Given the description of an element on the screen output the (x, y) to click on. 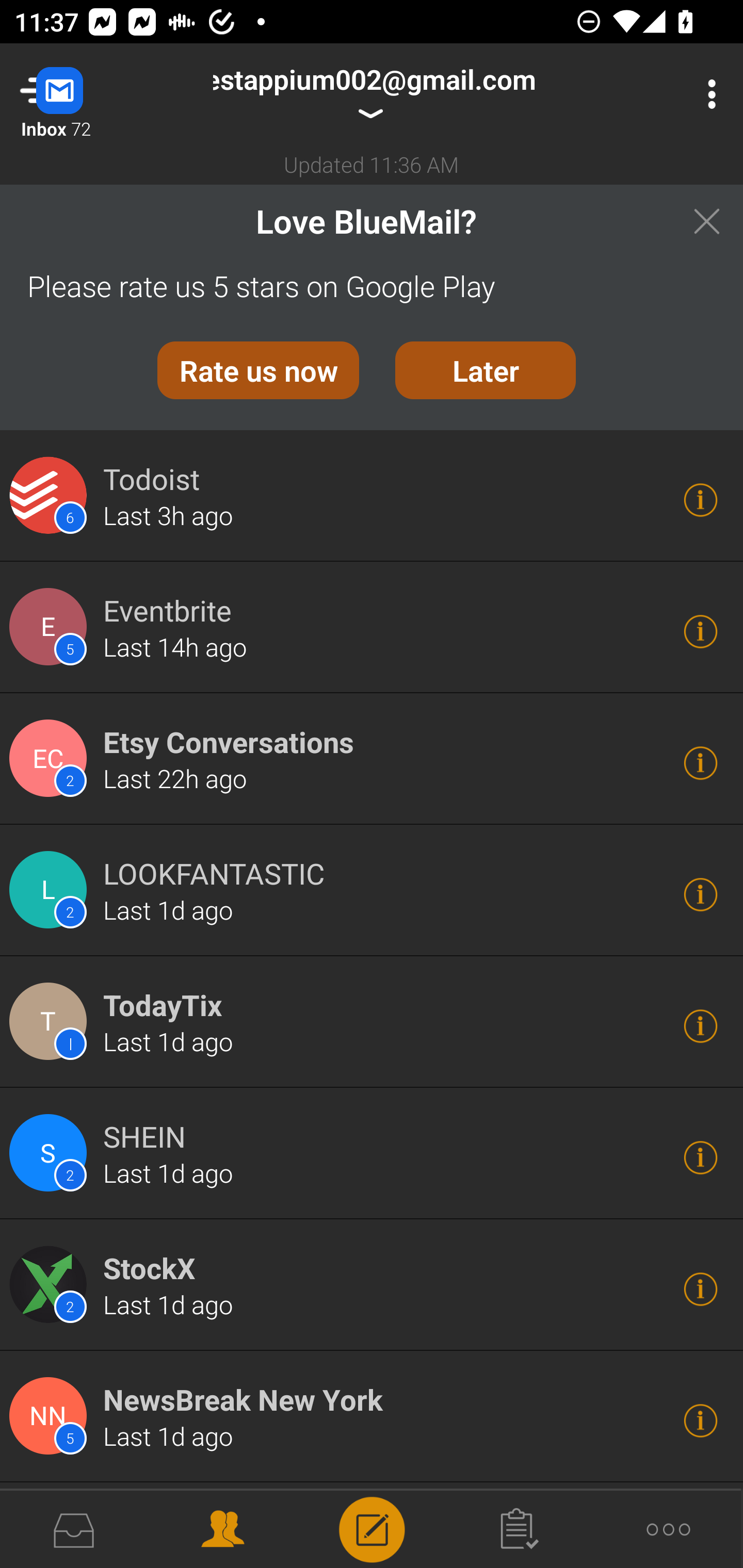
Navigate up (81, 93)
testappium002@gmail.com (378, 93)
More Options (706, 93)
Updated 11:36 AM (371, 164)
Rate us now (257, 370)
Later (485, 370)
6 Todoist Last 3h ago (371, 495)
6 (50, 495)
5 Eventbrite Last 14h ago (371, 627)
5 (50, 626)
2 Etsy Conversations Last 22h ago (371, 758)
2 (50, 758)
2 LOOKFANTASTIC Last 1d ago (371, 890)
2 (50, 889)
TodayTix Last 1d ago (371, 1022)
2 SHEIN Last 1d ago (371, 1153)
2 (50, 1153)
2 StockX Last 1d ago (371, 1285)
2 (50, 1284)
5 NewsBreak New York Last 1d ago (371, 1416)
5 (50, 1416)
2 (50, 1524)
Compose (371, 1528)
